Given the description of an element on the screen output the (x, y) to click on. 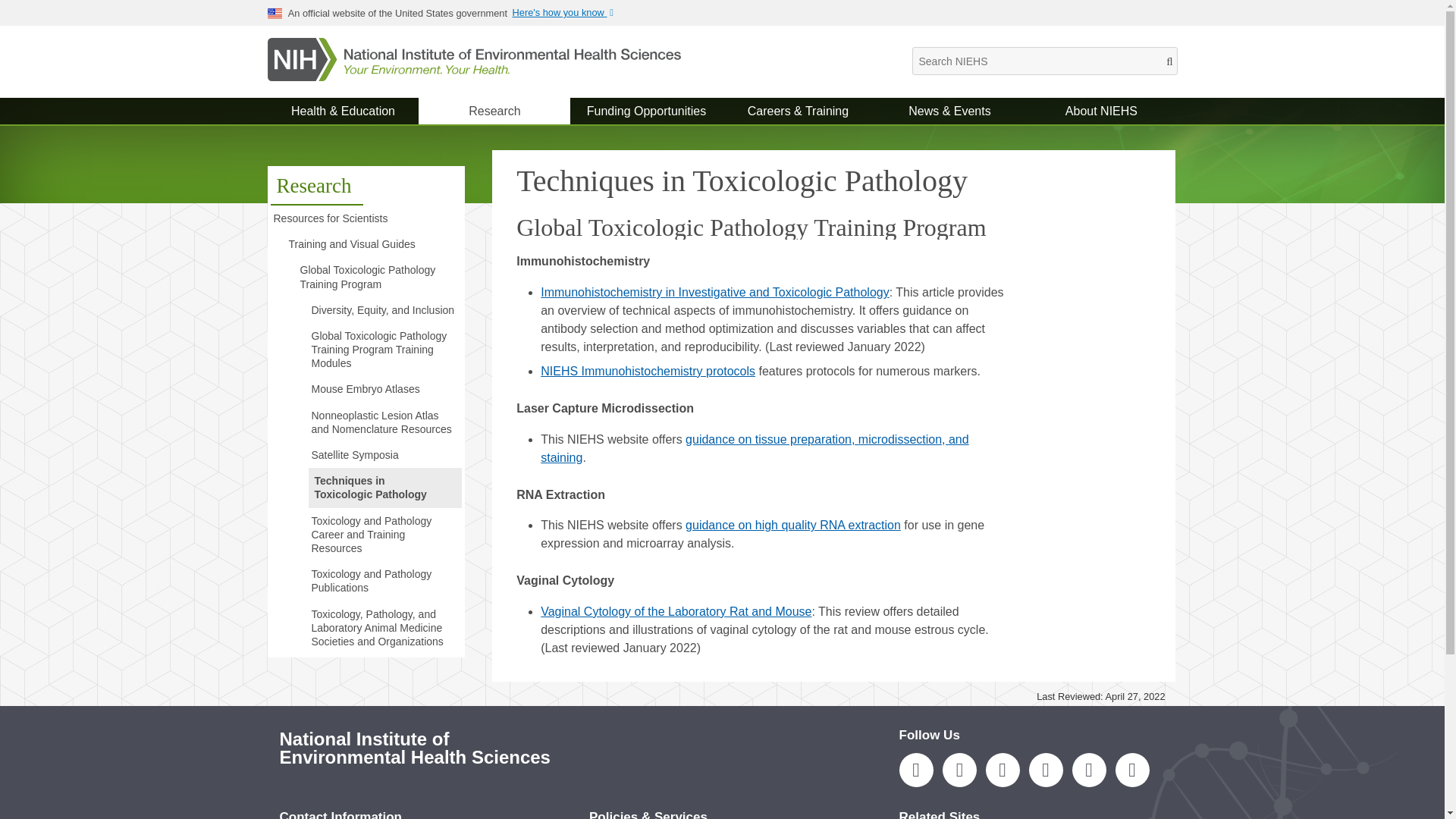
Laser Microdissection (754, 448)
Immunohistochemistry Protocols (647, 370)
Extraction of High Quality RNA (793, 524)
Search NIEHS (1043, 60)
Here's how you know (567, 12)
